Given the description of an element on the screen output the (x, y) to click on. 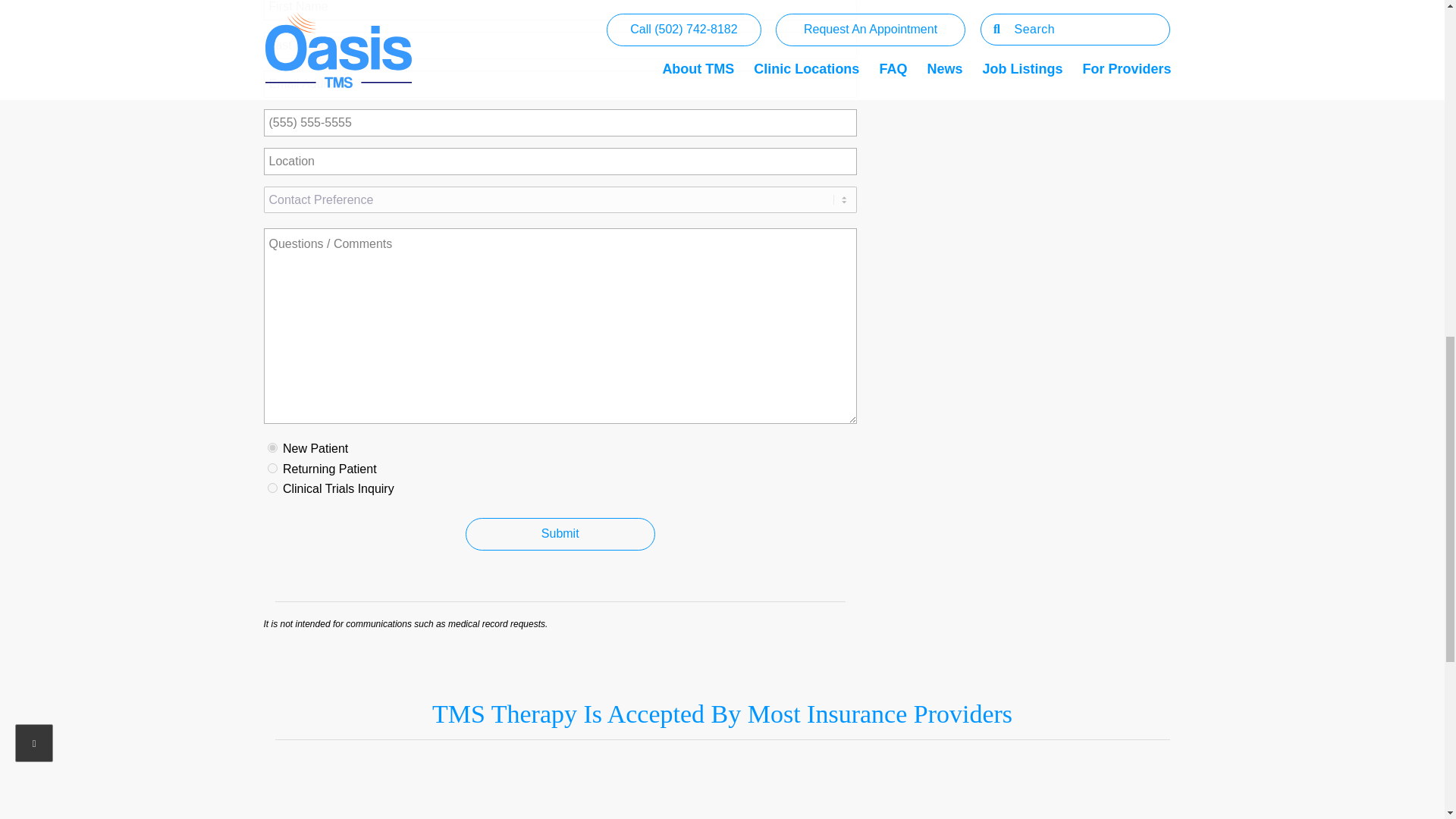
Submit (560, 533)
Clinical Trials Inquiry (271, 488)
Returning Patient (271, 468)
New Patient (271, 447)
